Given the description of an element on the screen output the (x, y) to click on. 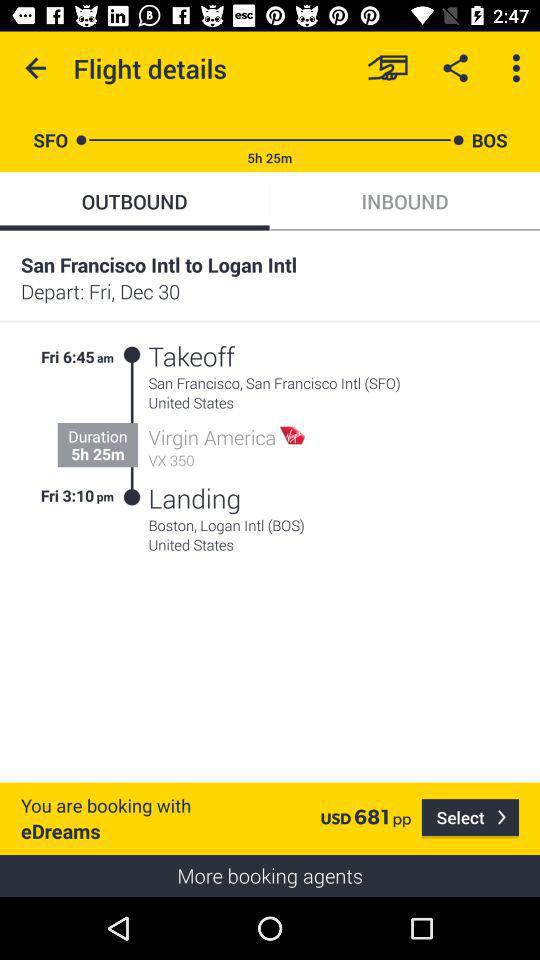
tap the item next to the flight details (387, 67)
